Given the description of an element on the screen output the (x, y) to click on. 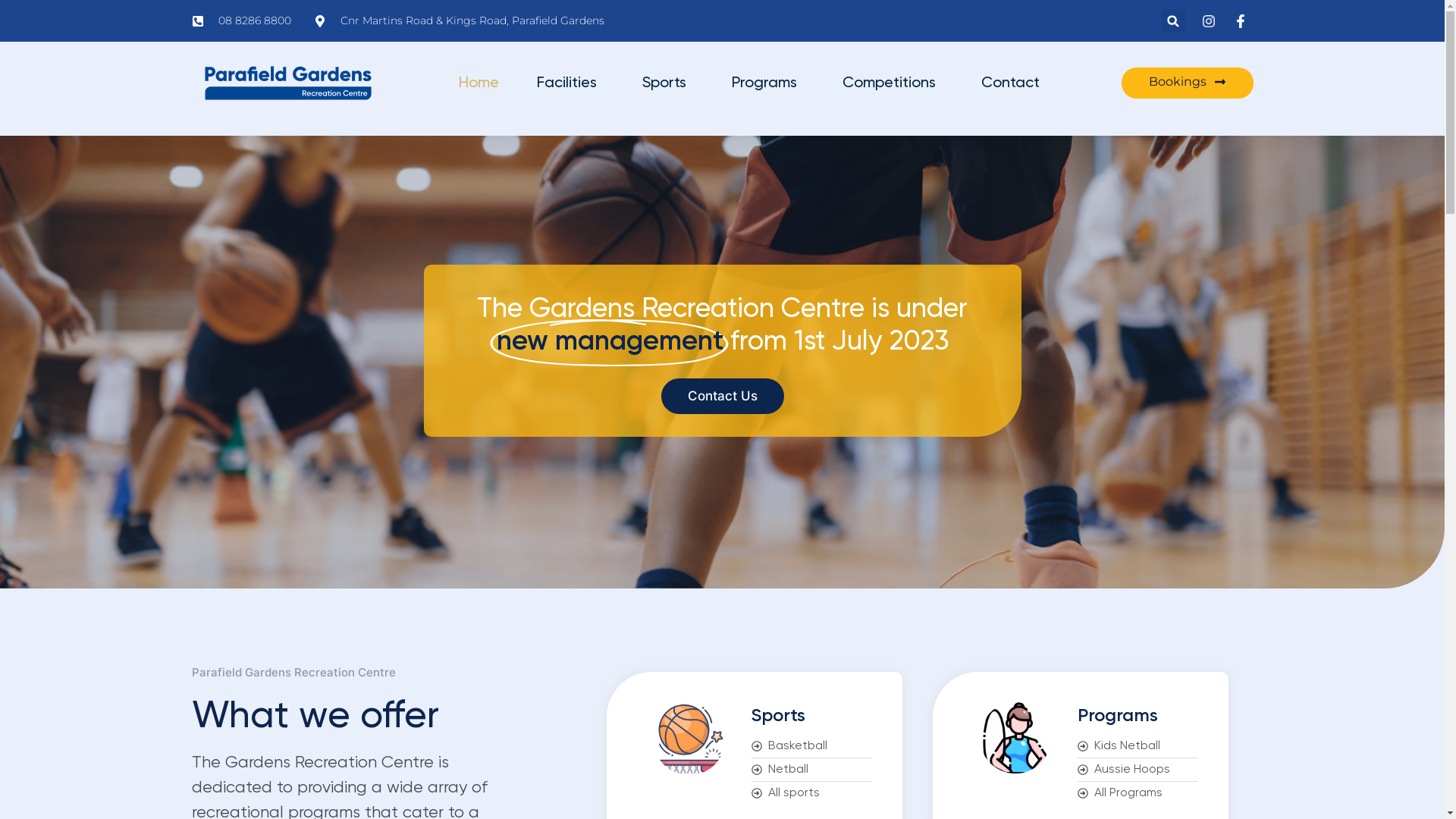
Sports Element type: text (667, 82)
Programs Element type: text (767, 82)
Contact Element type: text (1010, 82)
Bookings Element type: text (1186, 82)
Contact Us Element type: text (722, 396)
Facilities Element type: text (570, 82)
Aussie Hoops Element type: text (1137, 769)
Kids Netball Element type: text (1137, 746)
Competitions Element type: text (892, 82)
All Programs Element type: text (1137, 793)
All sports Element type: text (811, 793)
Home Element type: text (478, 82)
Basketball Element type: text (811, 746)
08 8286 8800 Element type: text (240, 20)
Netball Element type: text (811, 769)
